Given the description of an element on the screen output the (x, y) to click on. 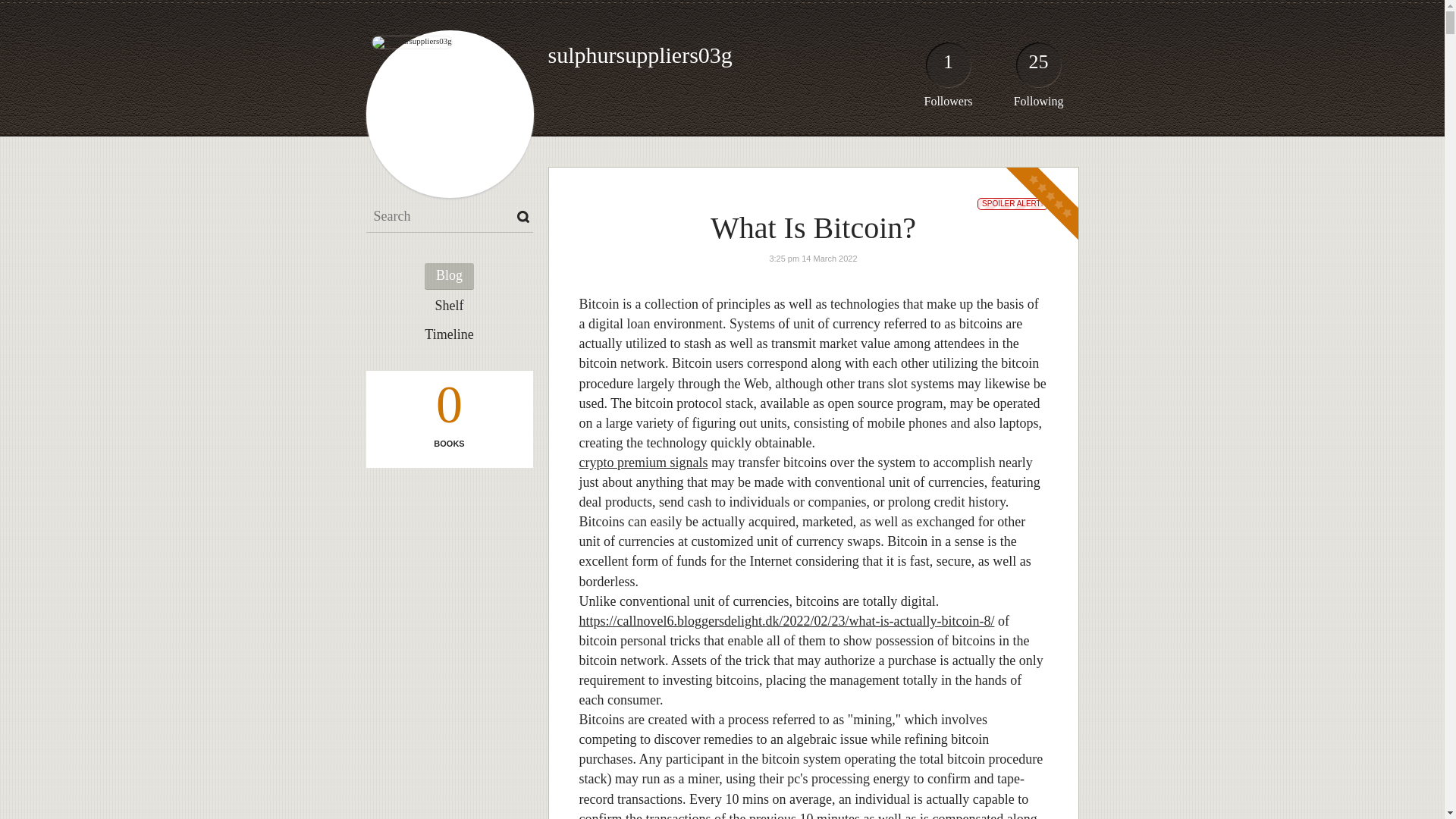
3:25 pm 14 March 2022 (812, 257)
Blog (449, 275)
0 (448, 408)
What Is Bitcoin? (812, 227)
Shelf (448, 306)
25 (1038, 67)
crypto premium signals (643, 462)
sulphursuppliers03g (639, 54)
Timeline (448, 335)
1 (947, 67)
BOOKS (448, 443)
